Given the description of an element on the screen output the (x, y) to click on. 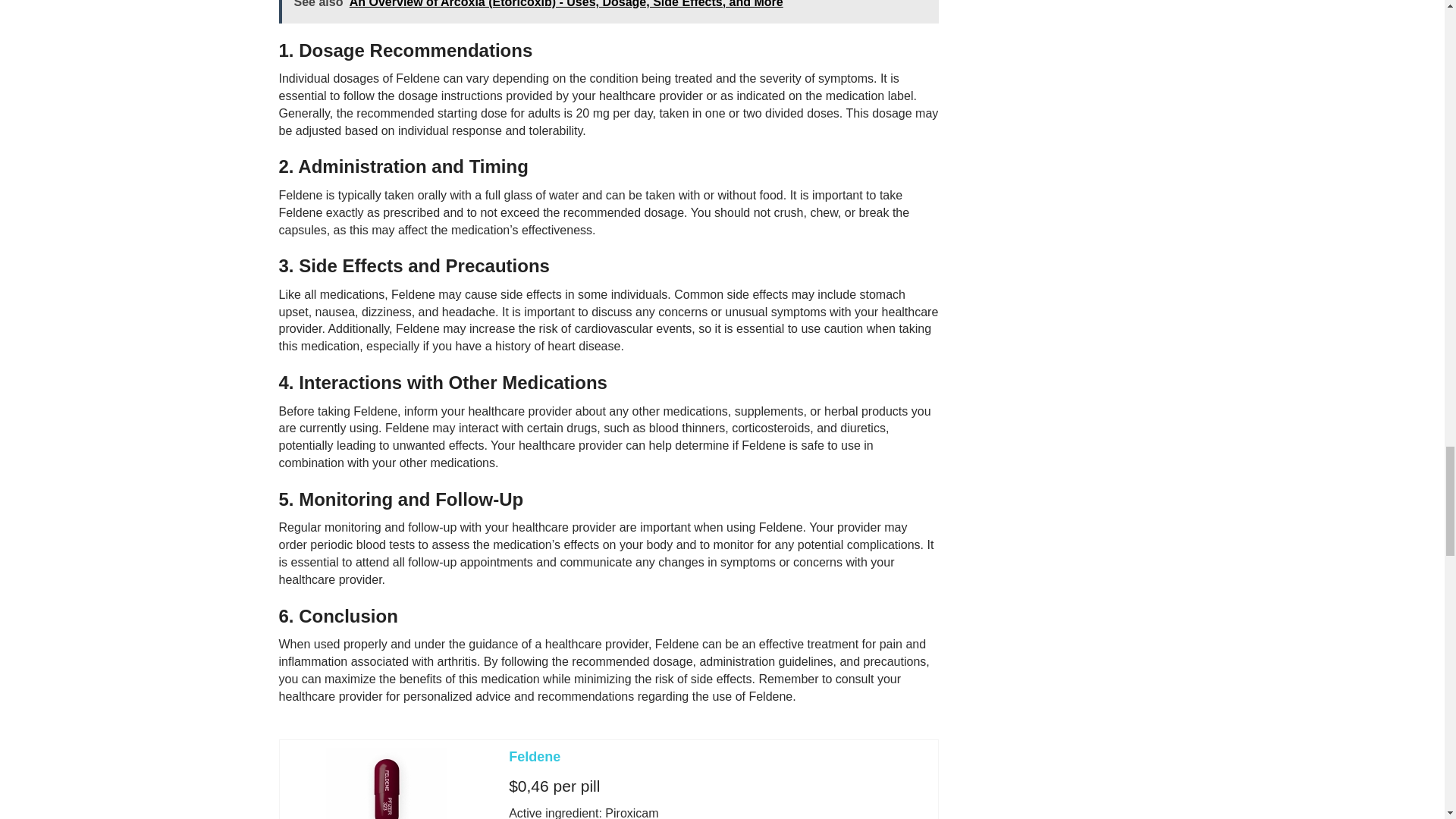
Feldene (534, 756)
Feldene (534, 756)
